Given the description of an element on the screen output the (x, y) to click on. 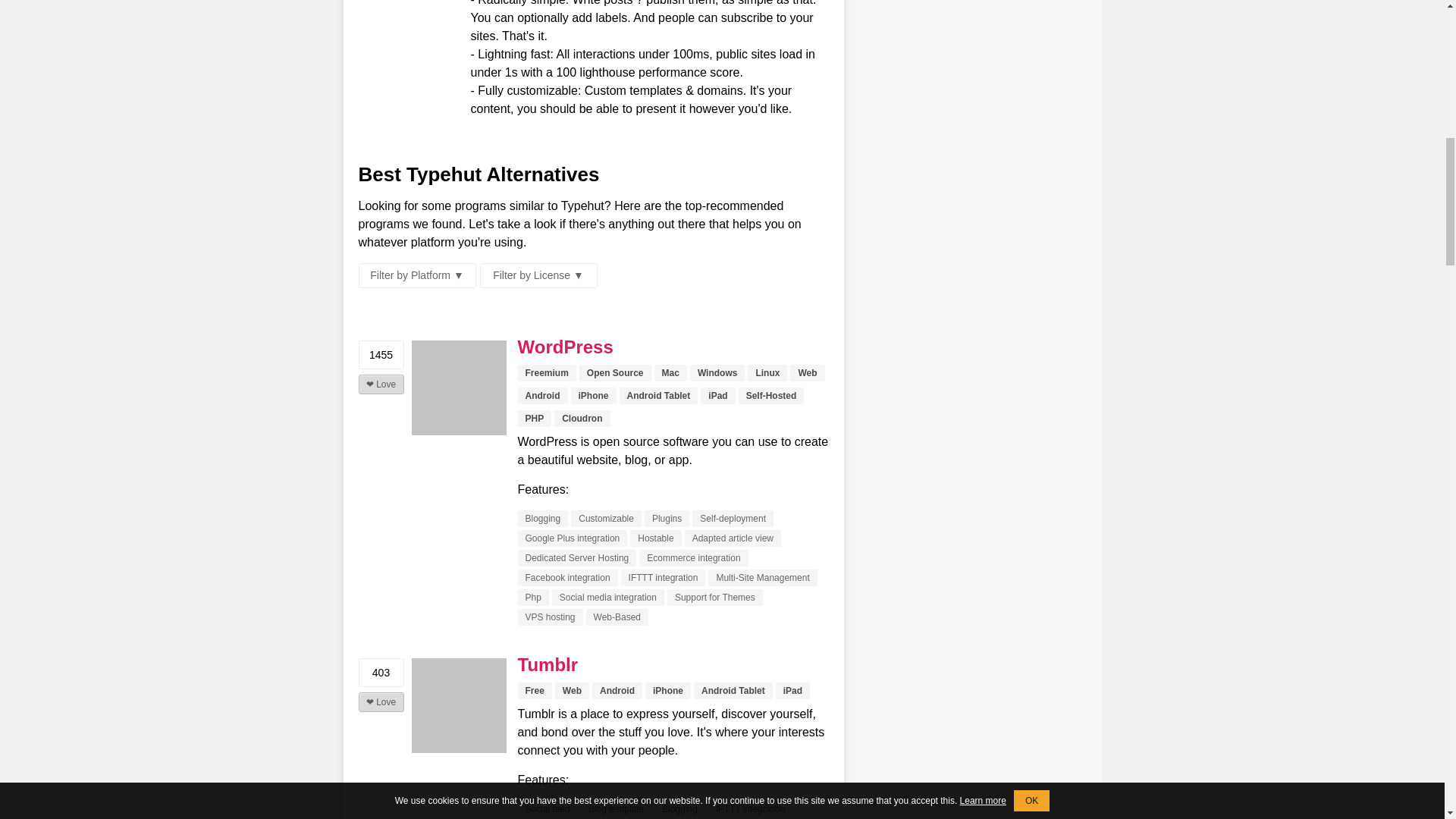
WordPress (564, 346)
WordPress (457, 387)
Tumblr (457, 705)
Tumblr (547, 664)
